Given the description of an element on the screen output the (x, y) to click on. 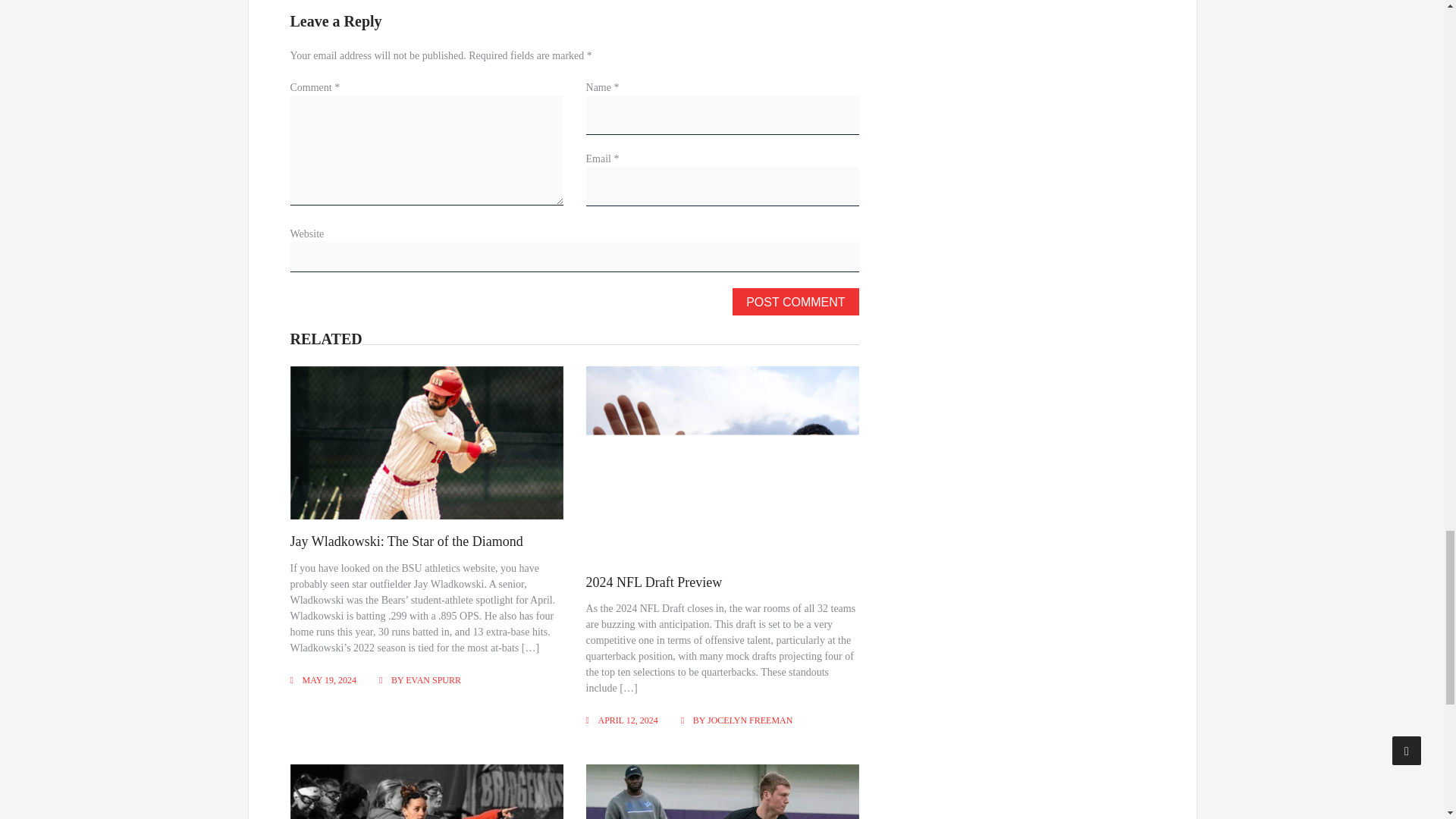
MAY 19, 2024 (328, 679)
2024 NFL Draft Preview (654, 581)
Post Comment (795, 301)
Jay Wladkowski: The Star of the Diamond (405, 540)
EVAN SPURR (433, 679)
Post Comment (795, 301)
